Given the description of an element on the screen output the (x, y) to click on. 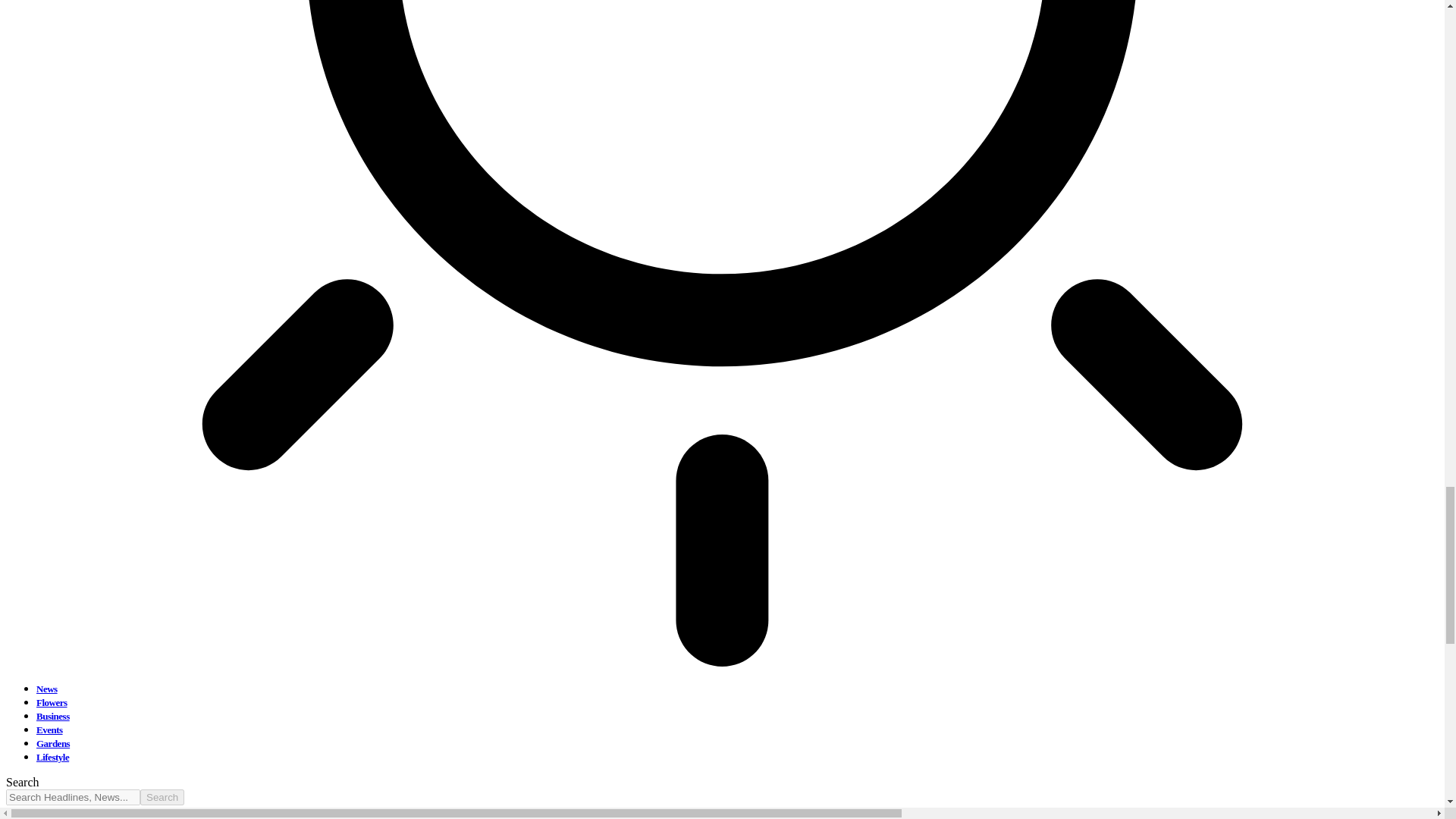
News (47, 688)
Lifestyle (52, 756)
Events (49, 729)
Flowers (51, 702)
Search (161, 797)
Search (161, 797)
Gardens (52, 743)
Business (52, 715)
